Given the description of an element on the screen output the (x, y) to click on. 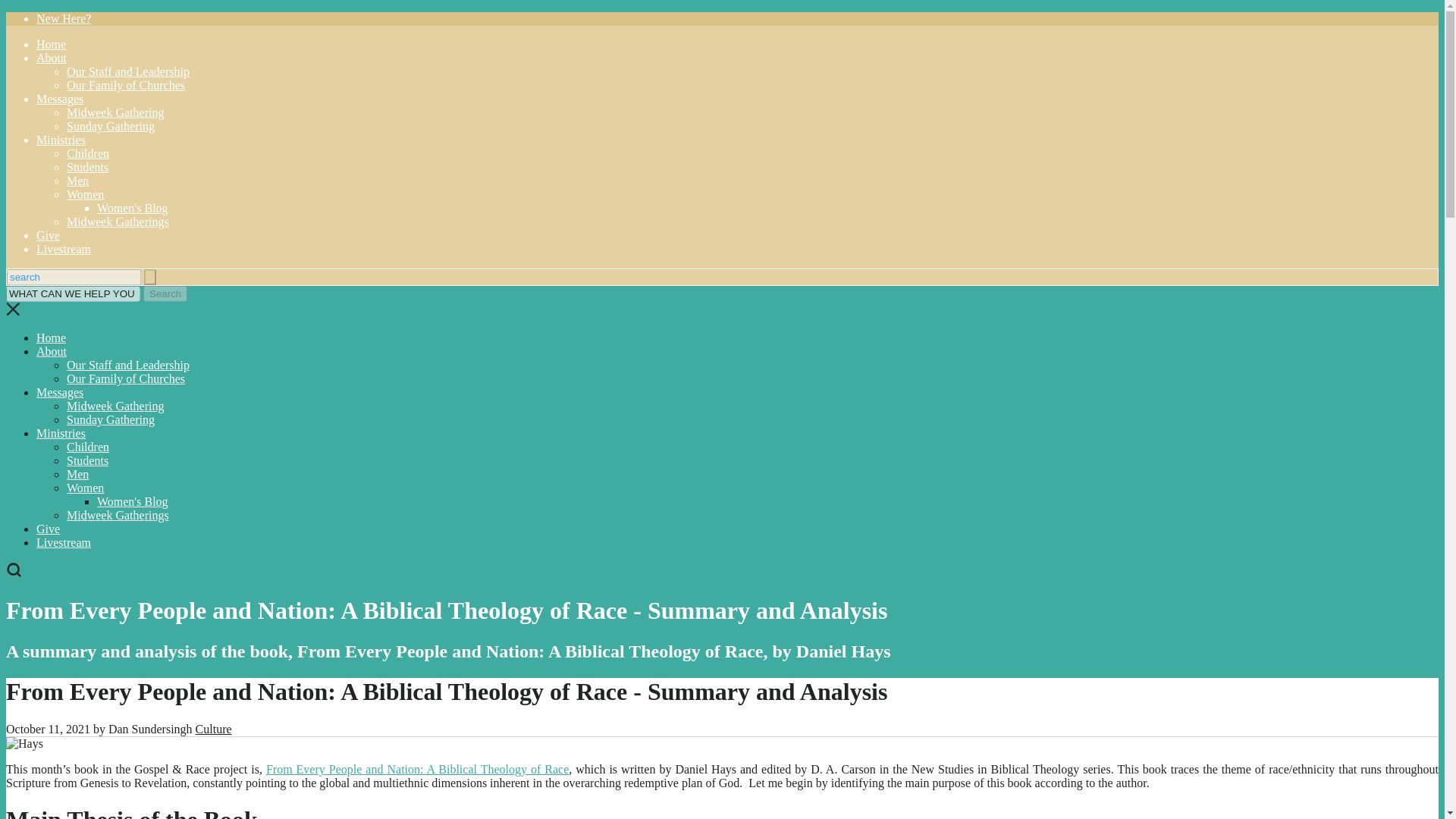
Sunday Gathering (110, 419)
About (51, 350)
Students (86, 460)
Midweek Gatherings (117, 514)
Midweek Gathering (114, 112)
Children (87, 446)
Search (164, 293)
Close Search (12, 311)
Menu (38, 573)
Women (84, 194)
Livestream (63, 248)
Our Family of Churches (125, 84)
Search (164, 293)
Messages (59, 98)
Women's Blog (132, 207)
